Given the description of an element on the screen output the (x, y) to click on. 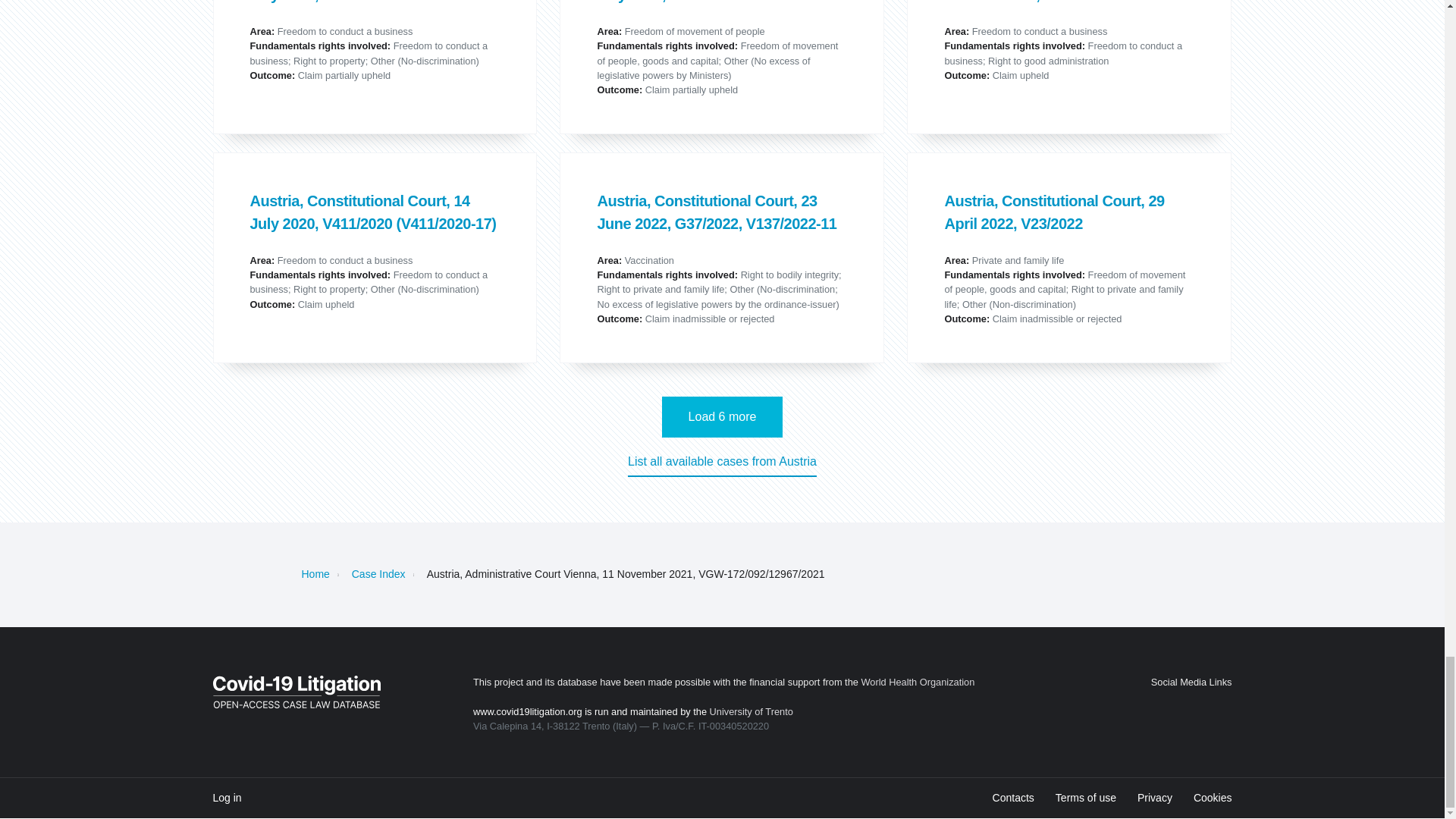
Go to next page (722, 416)
List all available cases from Austria (721, 464)
Load 6 more (722, 416)
